Given the description of an element on the screen output the (x, y) to click on. 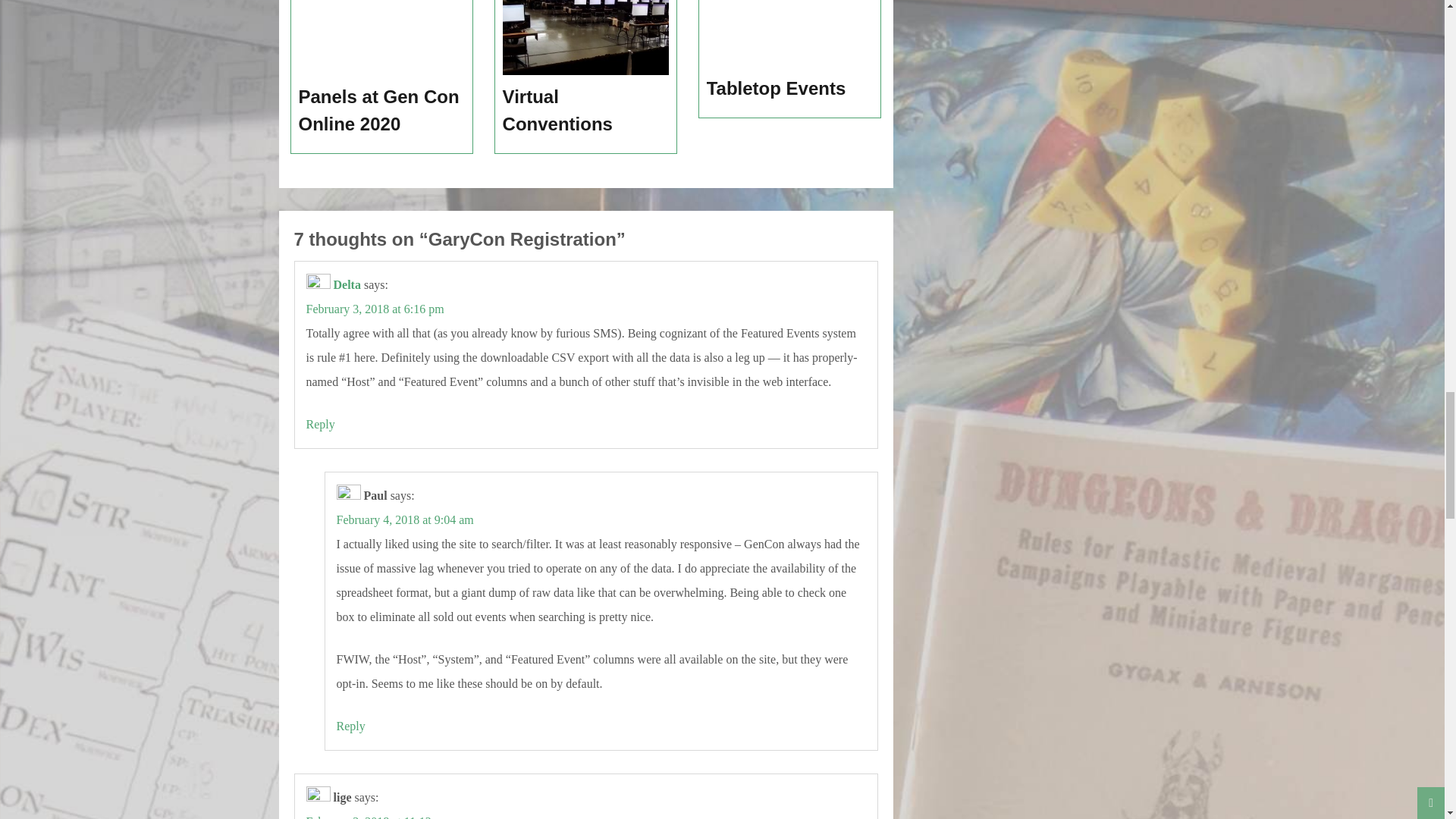
Virtual Conventions (585, 110)
Reply (350, 725)
Reply (319, 423)
February 3, 2018 at 6:16 pm (374, 308)
Delta (347, 284)
Panels at Gen Con Online 2020 (381, 110)
February 4, 2018 at 9:04 am (405, 519)
February 3, 2018 at 11:12 pm (377, 816)
Tabletop Events (789, 88)
